Given the description of an element on the screen output the (x, y) to click on. 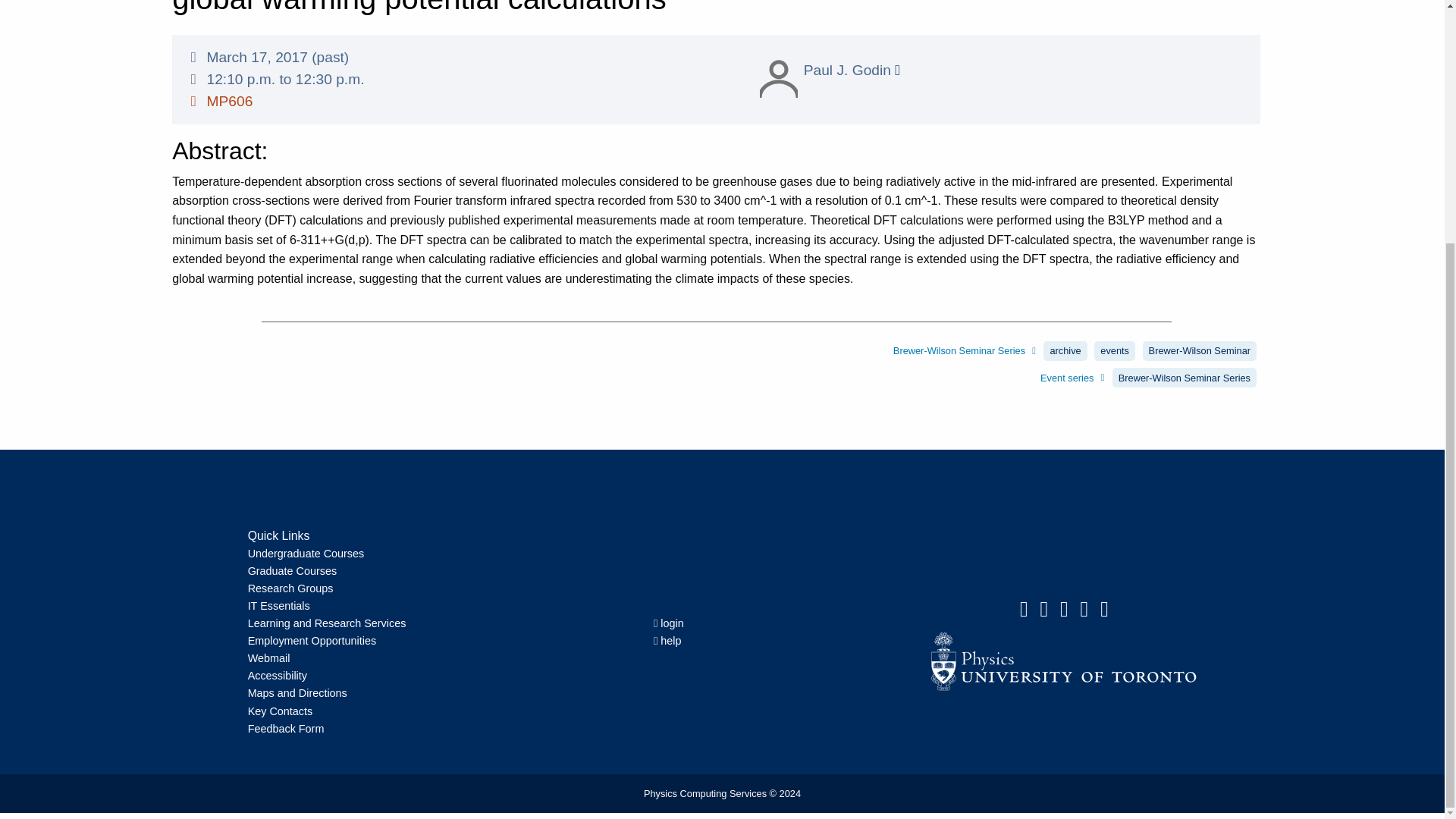
facebook (1044, 608)
youtube (1104, 608)
X, formerly known as twitter (1063, 608)
instagram (1084, 608)
send email (1023, 608)
